Given the description of an element on the screen output the (x, y) to click on. 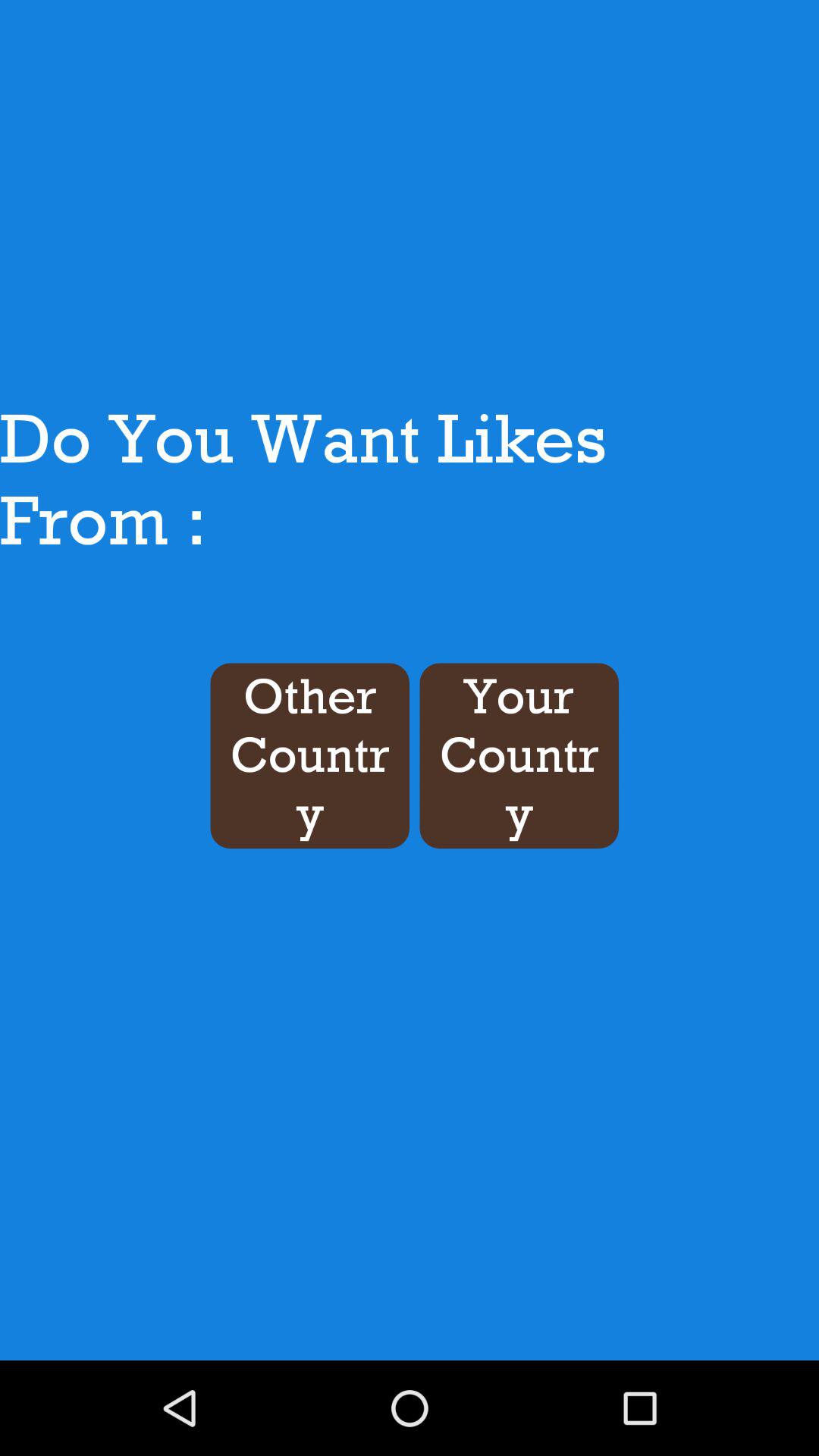
click the icon next to the your country button (309, 755)
